Given the description of an element on the screen output the (x, y) to click on. 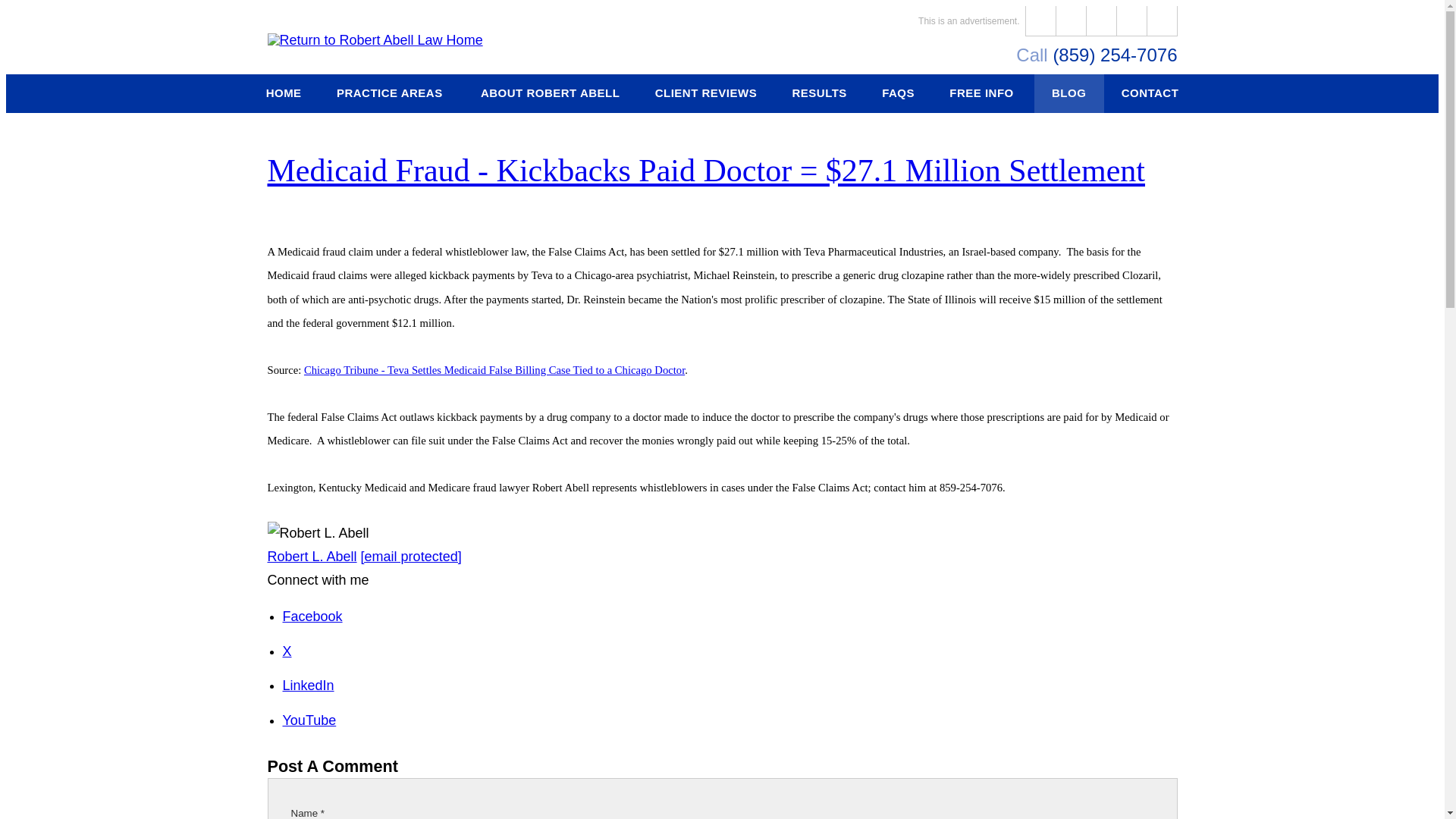
Find me on Facebook (312, 616)
FAQS (897, 93)
CLIENT REVIEWS (705, 93)
YouTube (309, 720)
Search (1161, 20)
FREE INFO (982, 93)
Connect with me on LinkedIn (307, 685)
This is an advertisement. (971, 21)
HOME (283, 93)
ABOUT ROBERT ABELL (550, 93)
Robert L. Abell (311, 556)
BLOG (1068, 93)
X (286, 651)
CONTACT (1149, 93)
